Given the description of an element on the screen output the (x, y) to click on. 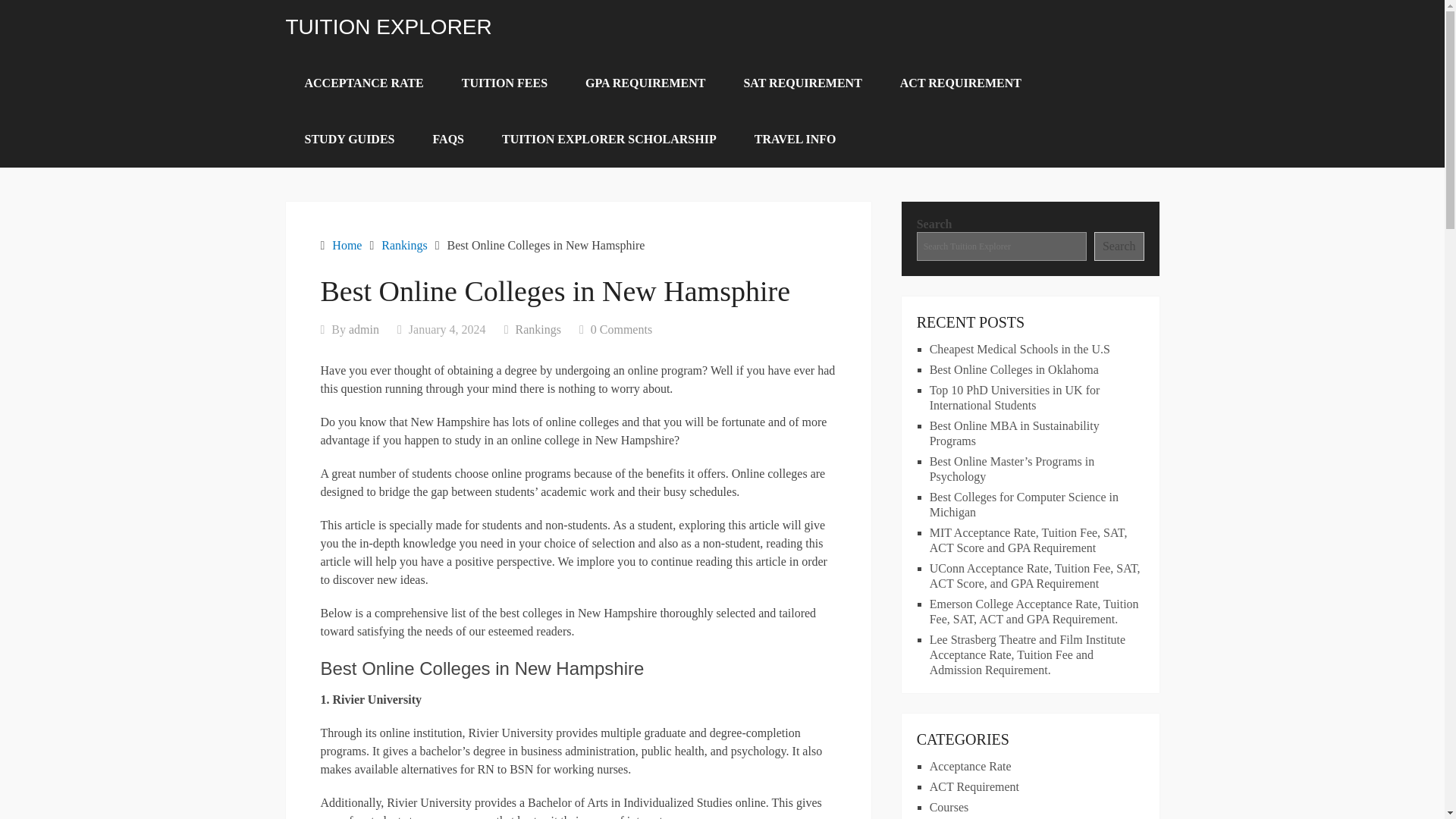
ACCEPTANCE RATE (363, 83)
TUITION EXPLORER (388, 26)
FAQS (448, 139)
SAT REQUIREMENT (801, 83)
Best Online MBA in Sustainability Programs (1014, 433)
Rankings (403, 245)
TUITION EXPLORER SCHOLARSHIP (609, 139)
Cheapest Medical Schools in the U.S (1019, 349)
Home (346, 245)
Posts by admin (363, 328)
Top 10 PhD Universities in UK for International Students (1015, 397)
Best Online Colleges in Oklahoma (1014, 369)
